Given the description of an element on the screen output the (x, y) to click on. 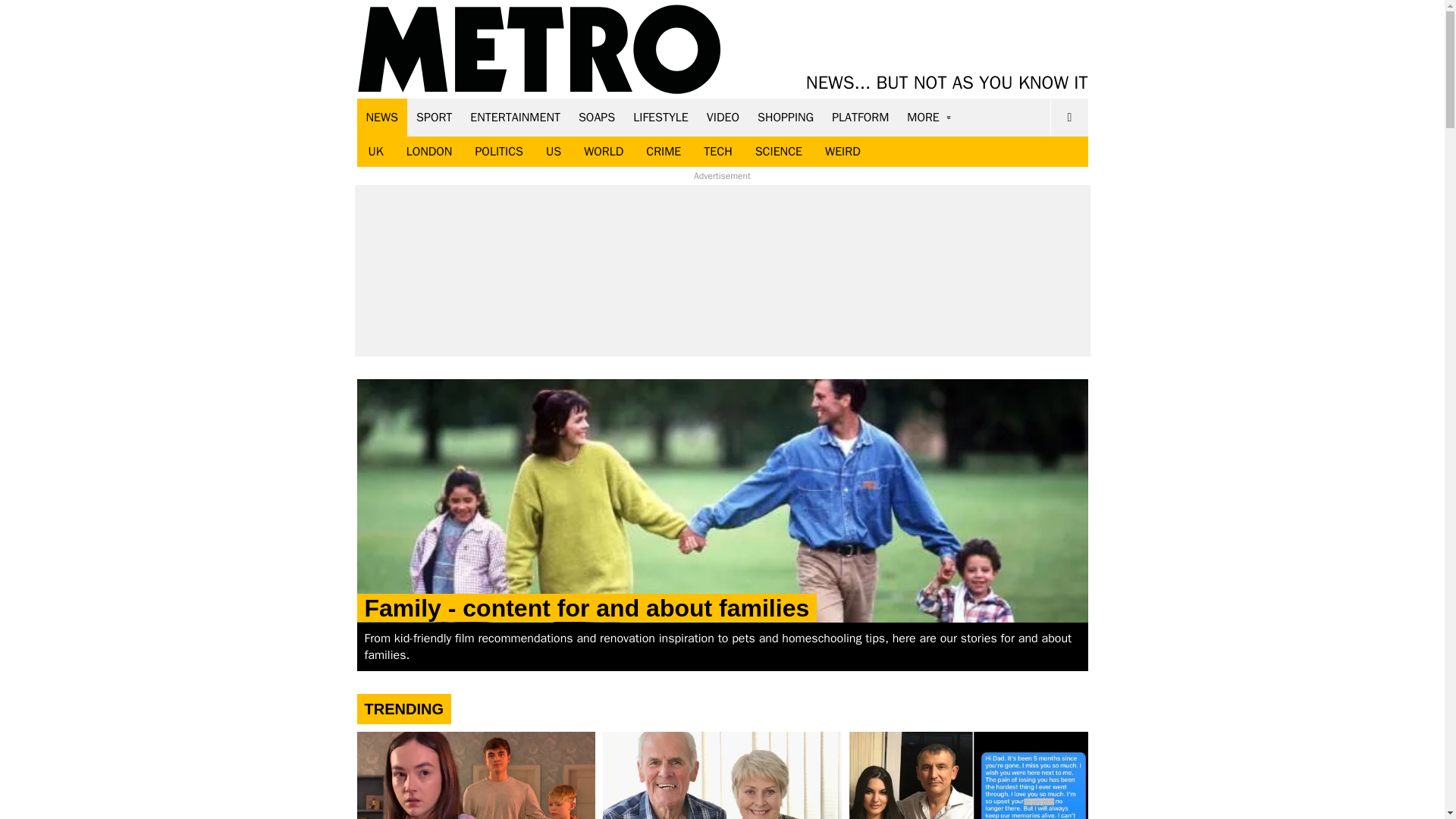
UK (375, 151)
WEIRD (842, 151)
WORLD (603, 151)
US (553, 151)
SCIENCE (778, 151)
CRIME (663, 151)
SOAPS (596, 117)
Metro (539, 50)
POLITICS (498, 151)
TECH (717, 151)
LIFESTYLE (660, 117)
LONDON (429, 151)
NEWS (381, 117)
ENTERTAINMENT (515, 117)
SPORT (434, 117)
